Given the description of an element on the screen output the (x, y) to click on. 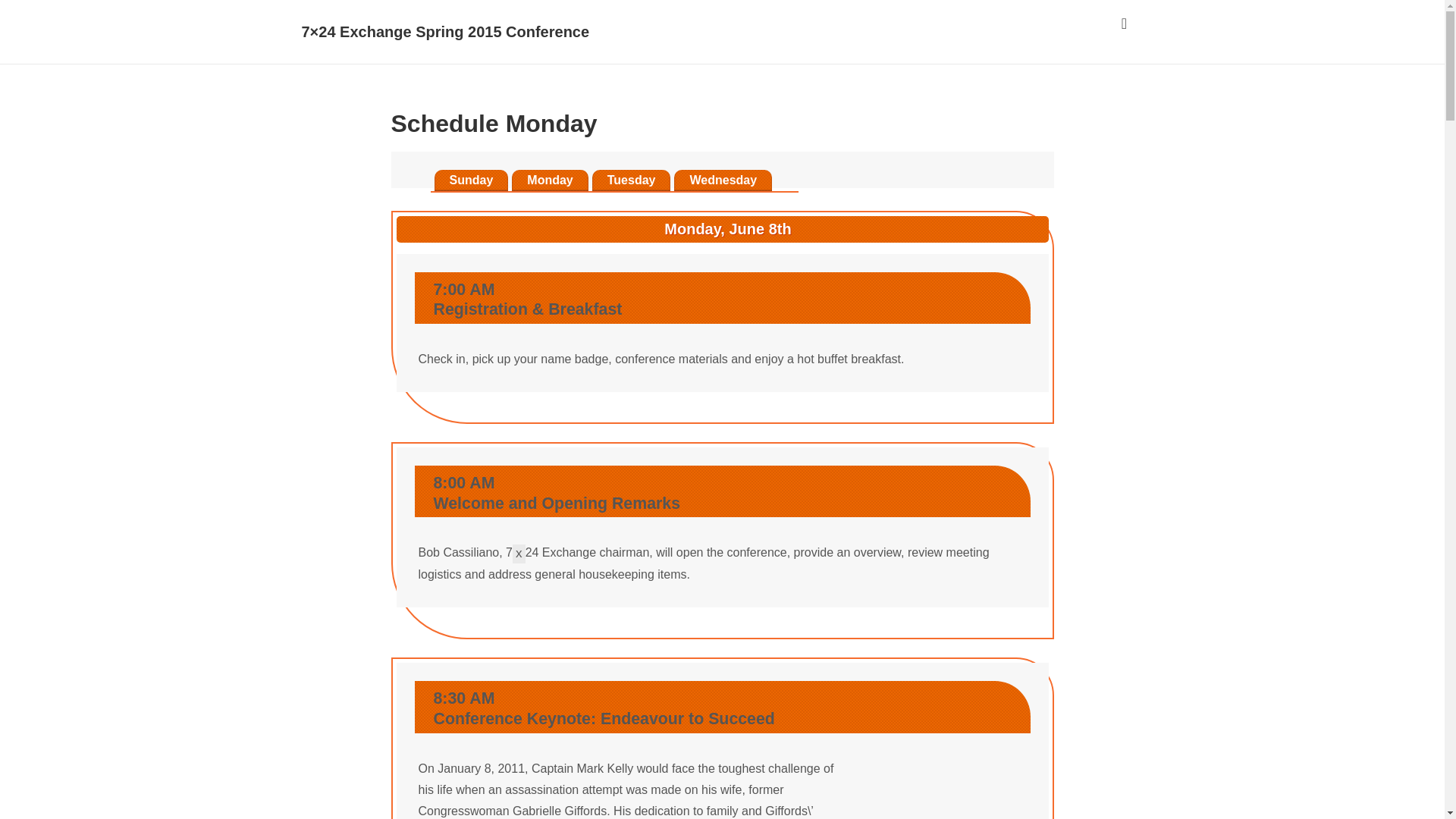
Tuesday (631, 179)
Sunday (470, 179)
MENU (1123, 23)
Wednesday (722, 179)
Monday (550, 179)
